Given the description of an element on the screen output the (x, y) to click on. 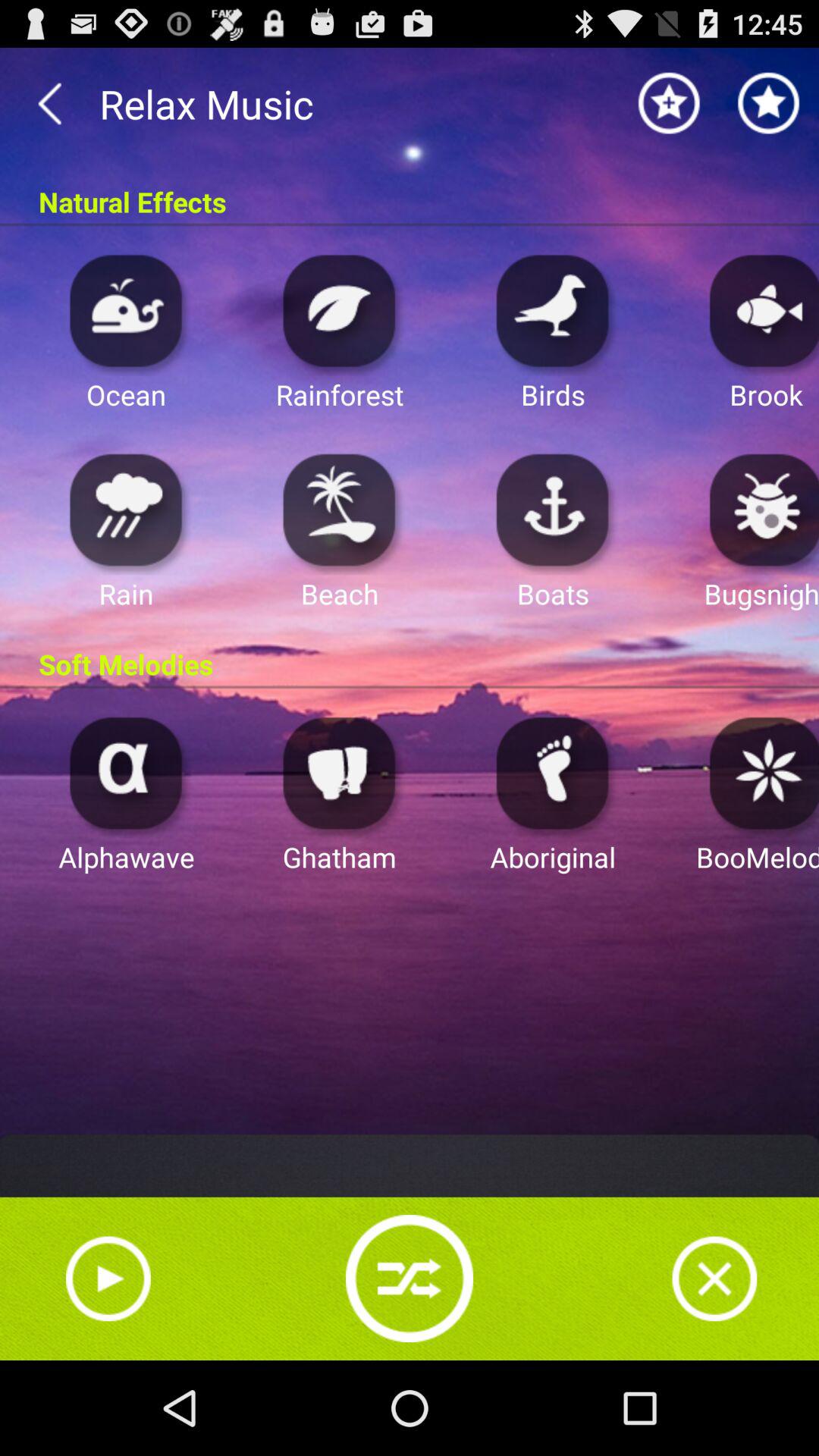
plays audio (339, 309)
